Given the description of an element on the screen output the (x, y) to click on. 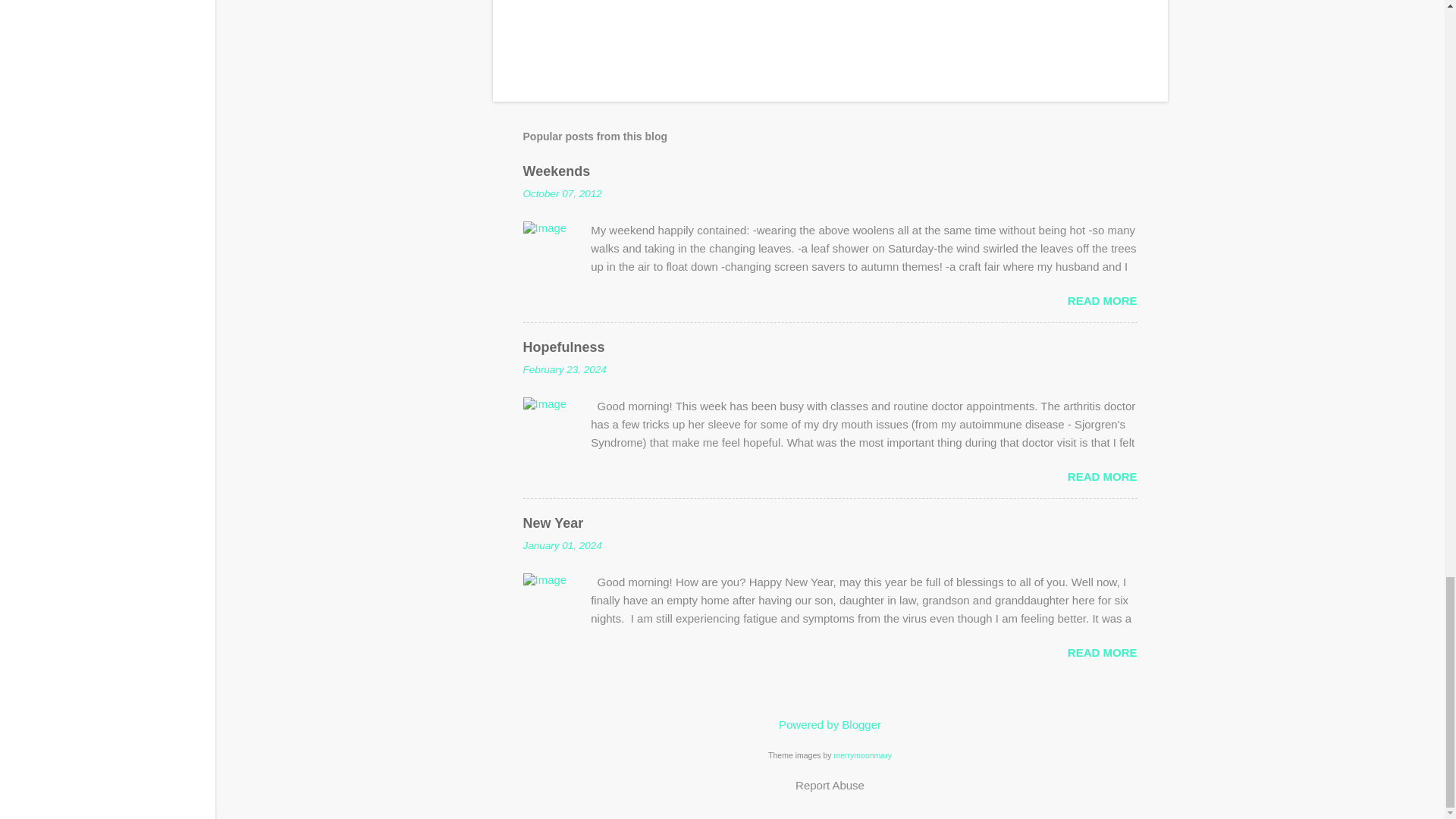
permanent link (562, 193)
